Given the description of an element on the screen output the (x, y) to click on. 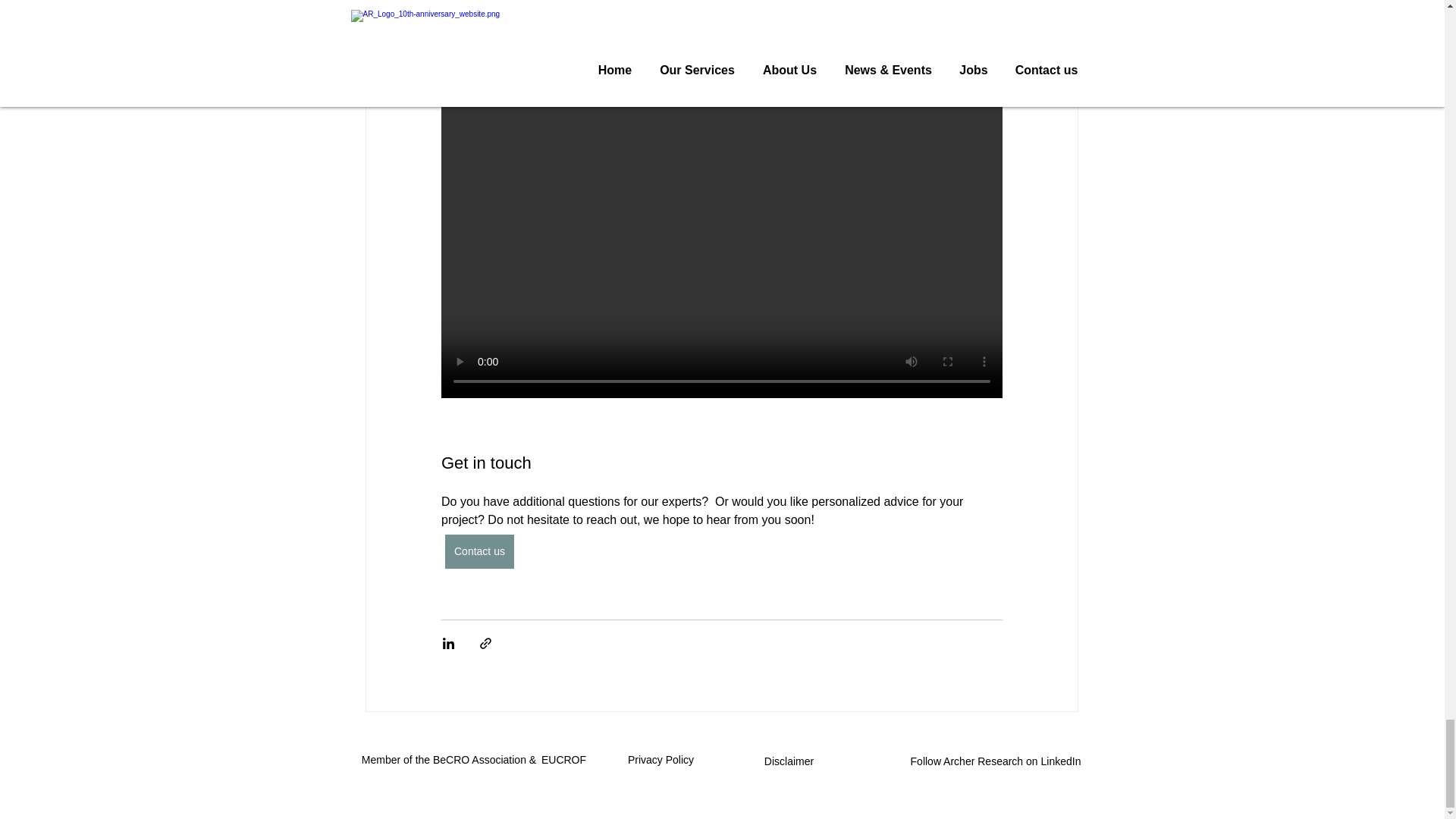
Follow Archer Research on LinkedIn (997, 761)
Privacy Policy (662, 759)
Disclaimer (790, 761)
Contact us (478, 551)
EUCROF (564, 759)
